Given the description of an element on the screen output the (x, y) to click on. 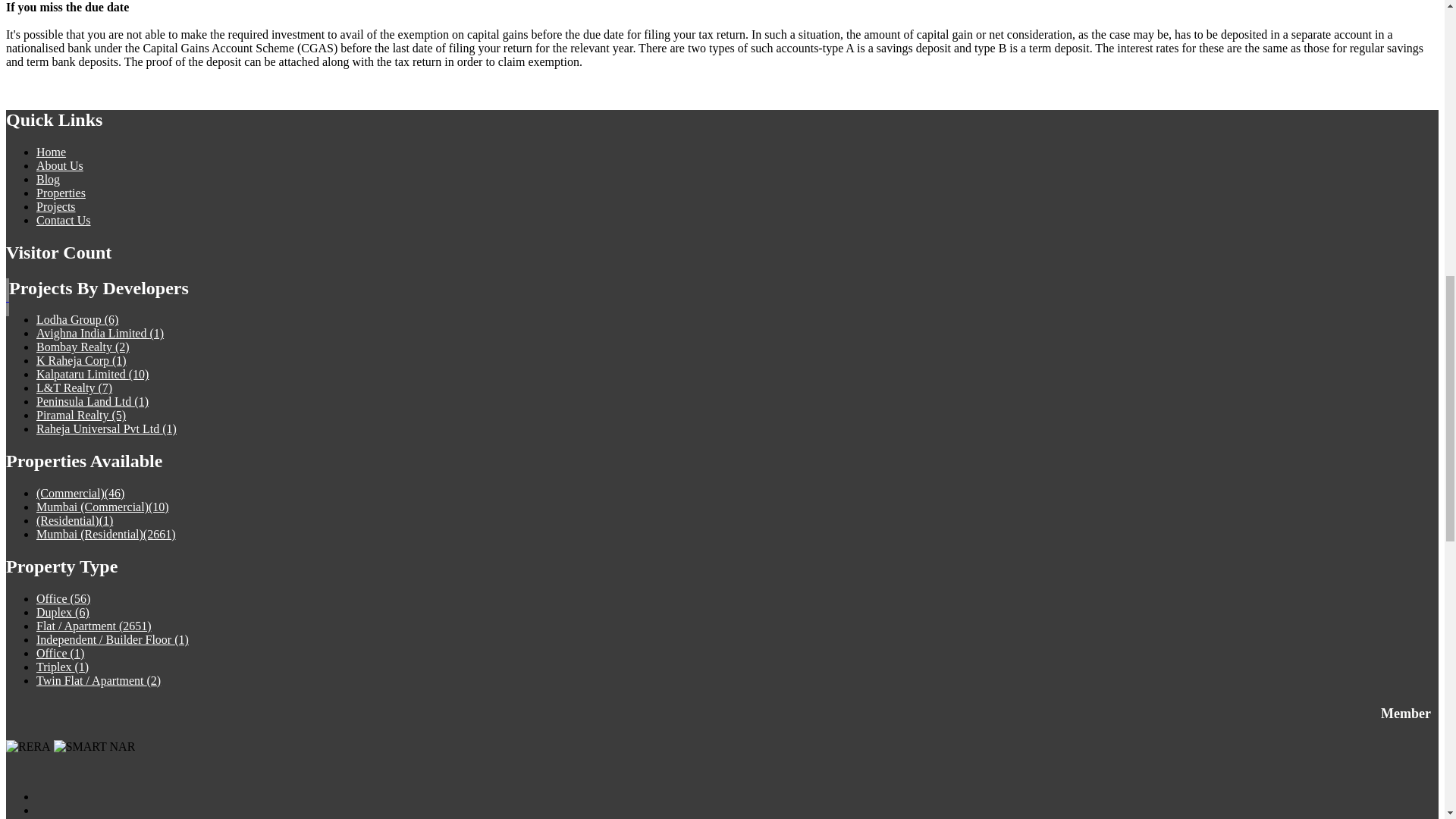
Blog (47, 178)
Home (50, 151)
Properties (60, 192)
Projects (55, 205)
Contact Us (63, 219)
About Us (59, 164)
